Given the description of an element on the screen output the (x, y) to click on. 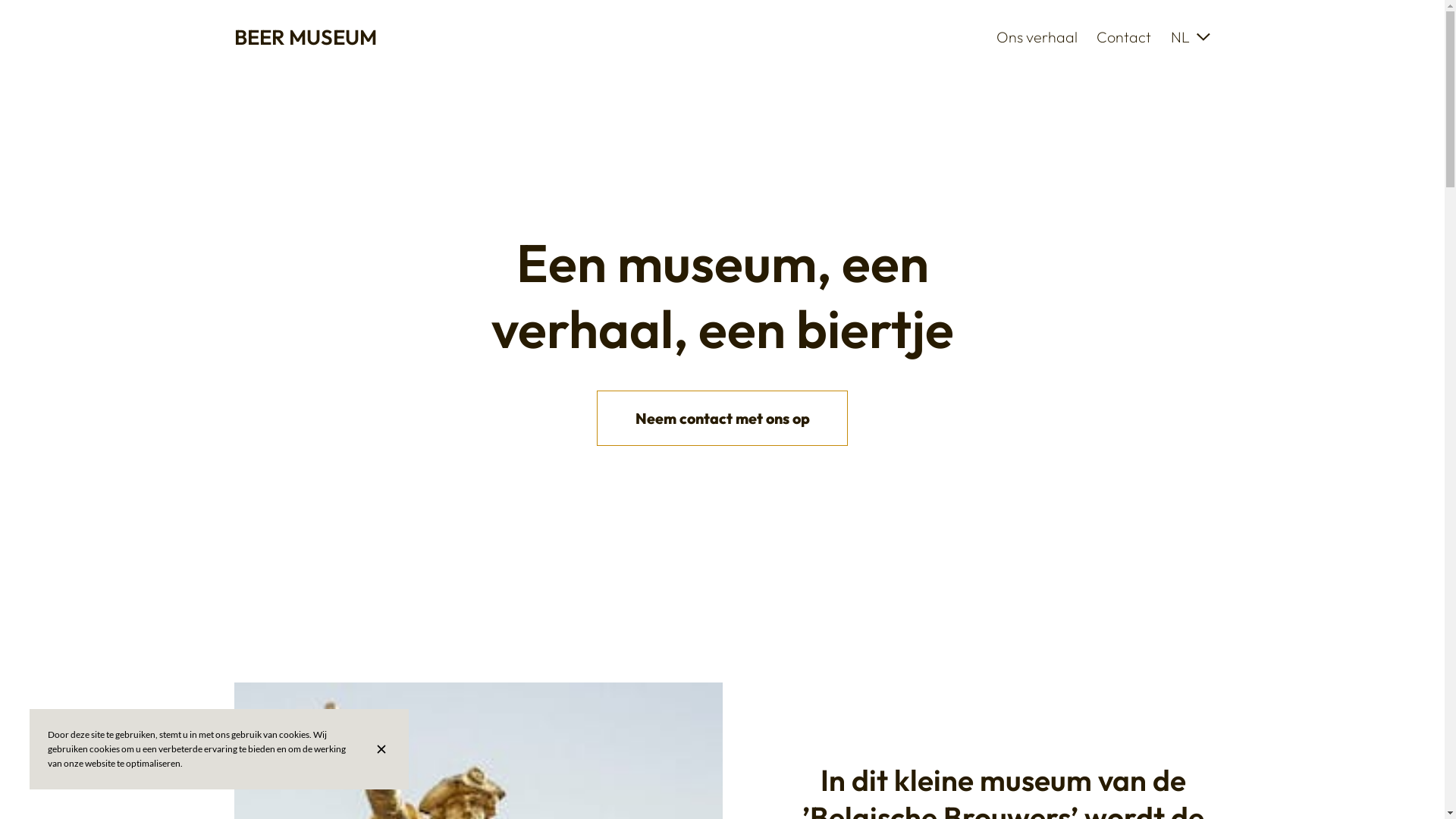
BEER MUSEUM
BEER MUSEUM Element type: text (304, 36)
Neem contact met ons op Element type: text (721, 417)
Contact Element type: text (1124, 36)
Ons verhaal Element type: text (1036, 36)
Sluit de banner met cookie-informatie Element type: hover (383, 748)
NL Element type: text (1190, 37)
